Given the description of an element on the screen output the (x, y) to click on. 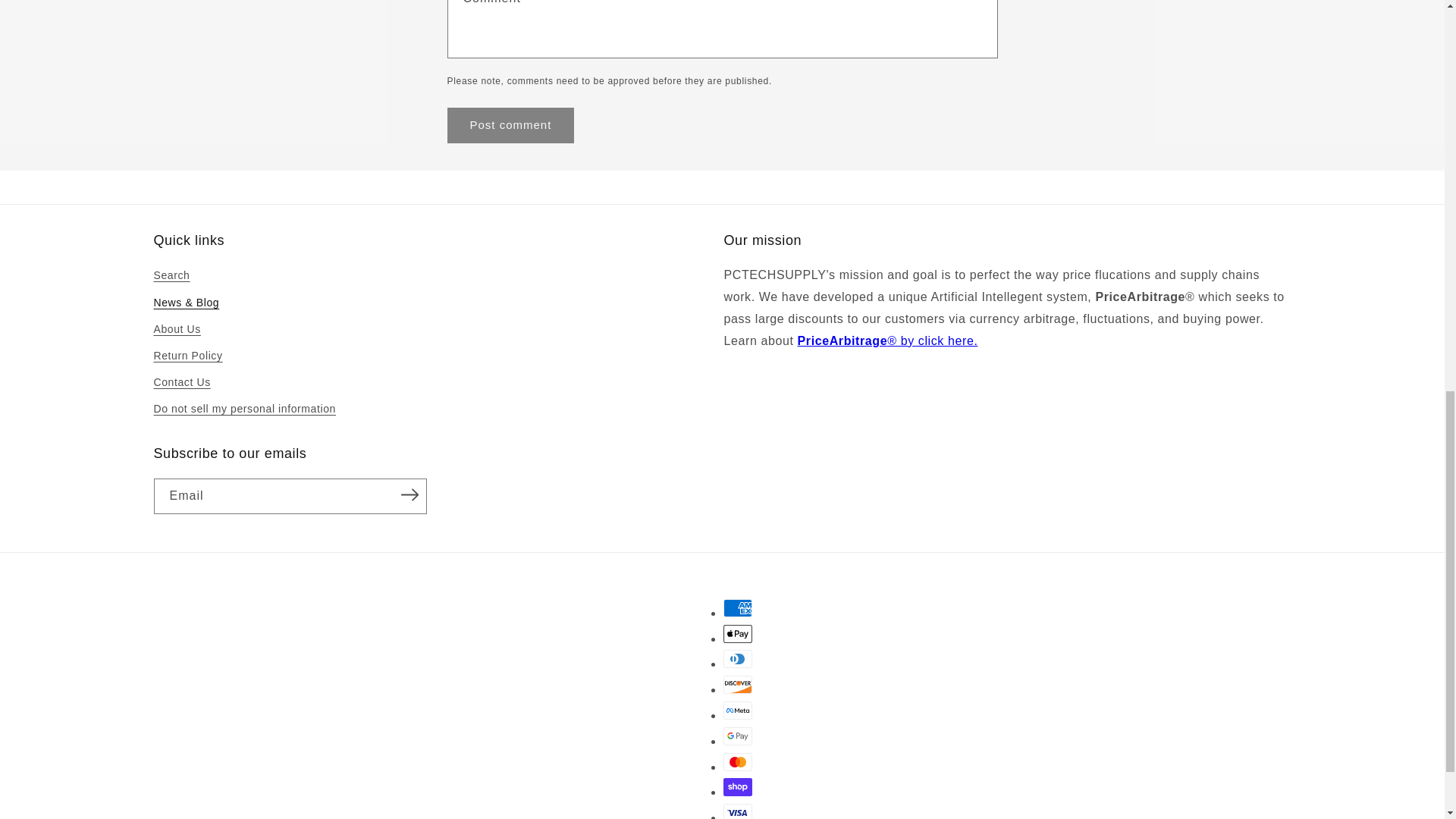
Discover (737, 684)
Post comment (510, 125)
Diners Club (737, 659)
Visa (737, 811)
Shop Pay (737, 787)
Apple Pay (737, 633)
Meta Pay (737, 710)
Google Pay (737, 736)
Mastercard (737, 761)
American Express (737, 607)
